Given the description of an element on the screen output the (x, y) to click on. 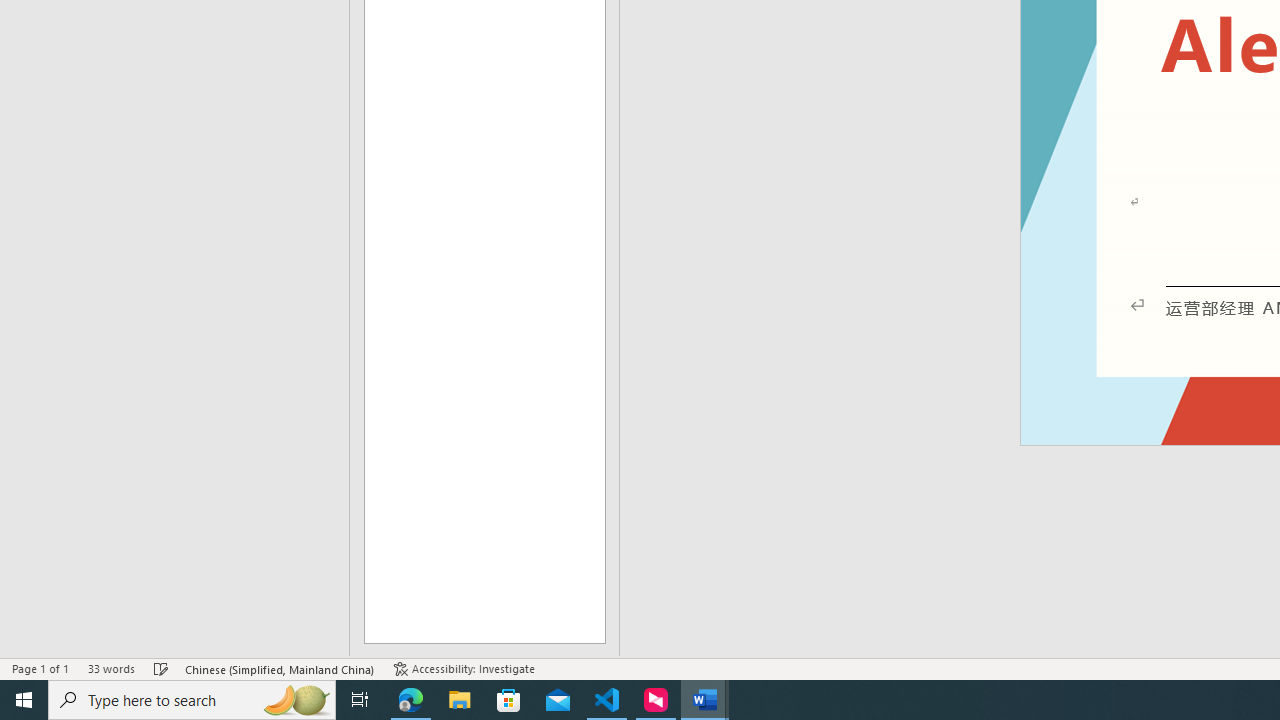
Start (24, 699)
File Explorer (460, 699)
Search highlights icon opens search home window (295, 699)
Page Number Page 1 of 1 (39, 668)
Visual Studio Code - 1 running window (607, 699)
Microsoft Store (509, 699)
Task View (359, 699)
Word - 2 running windows (704, 699)
Type here to search (191, 699)
